Given the description of an element on the screen output the (x, y) to click on. 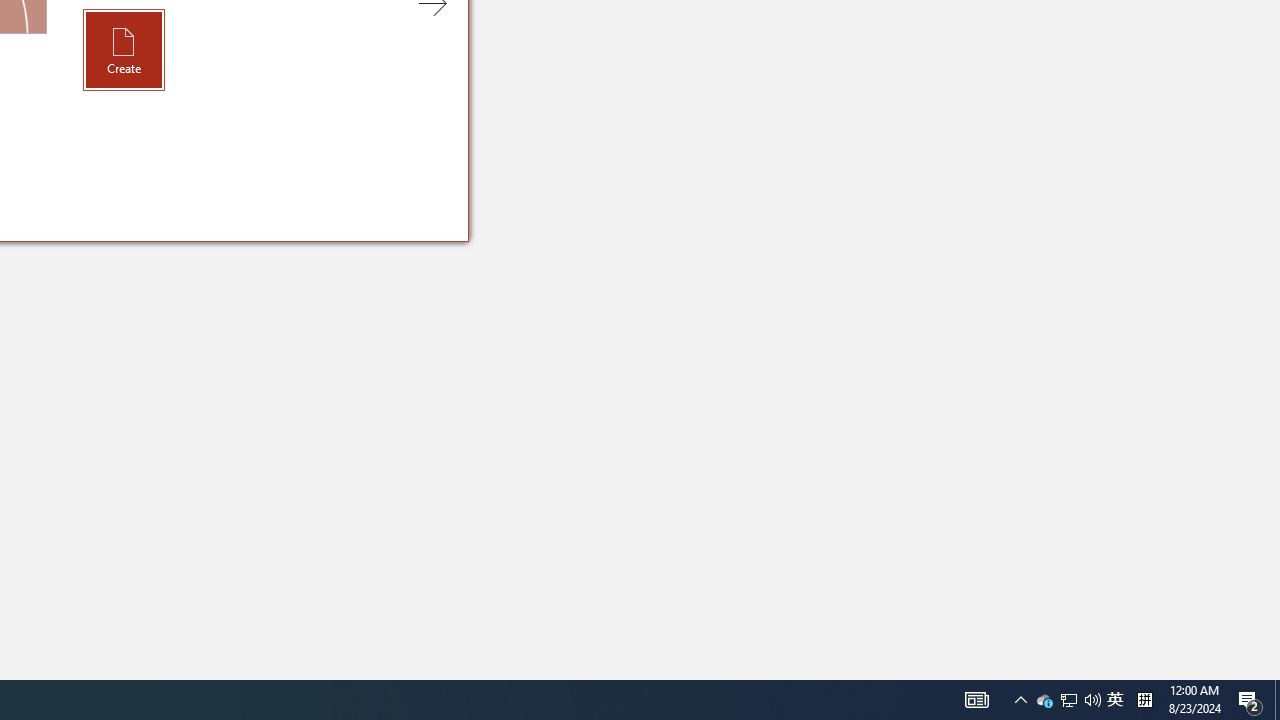
Create (124, 49)
